Given the description of an element on the screen output the (x, y) to click on. 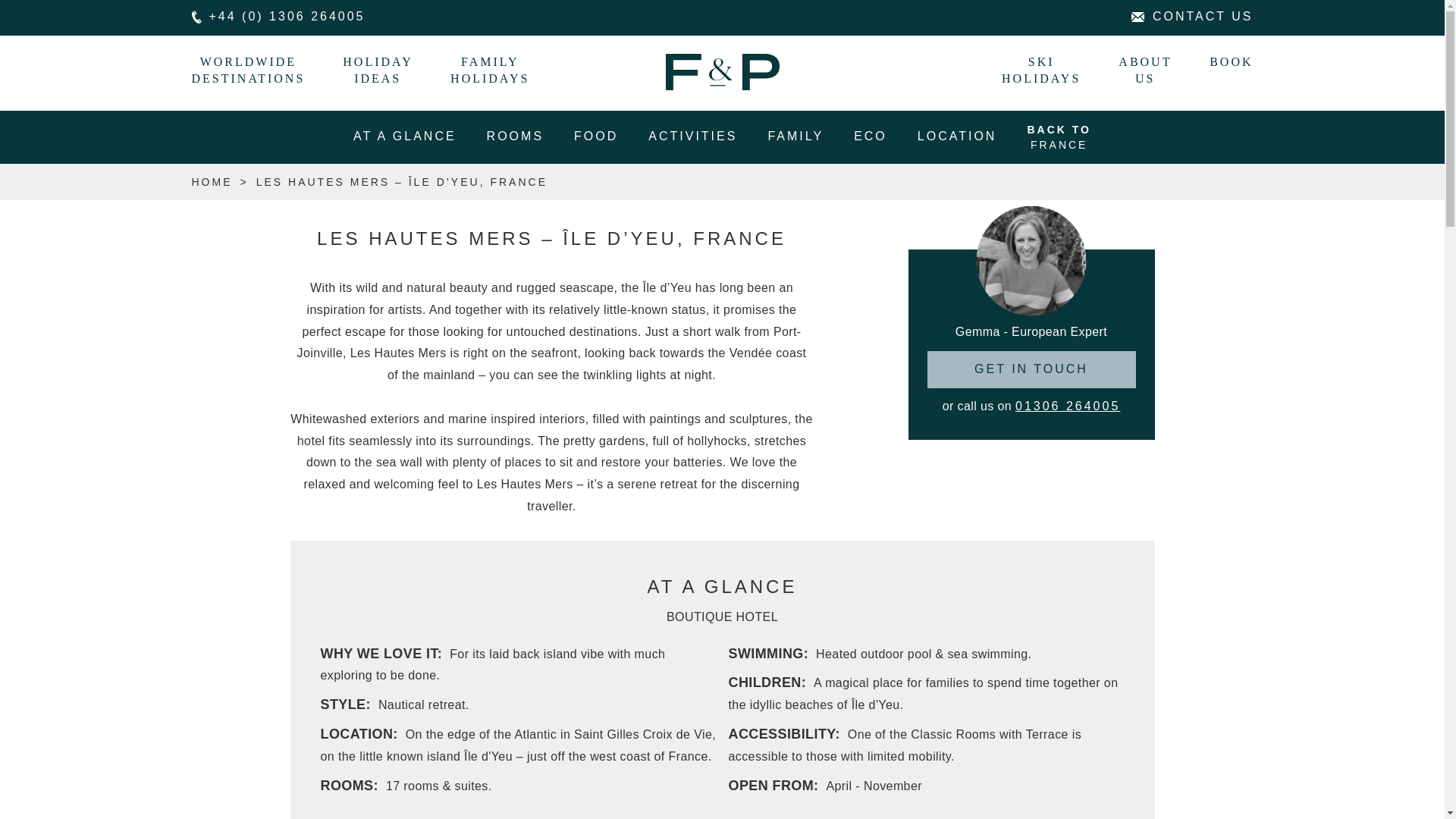
CONTACT US (1192, 15)
ACTIVITIES (692, 136)
ECO (870, 136)
FOOD (596, 136)
FAMILY (795, 136)
LOCATION (956, 136)
ROOMS (515, 136)
WORLDWIDE DESTINATIONS (256, 70)
AT A GLANCE (404, 136)
